Given the description of an element on the screen output the (x, y) to click on. 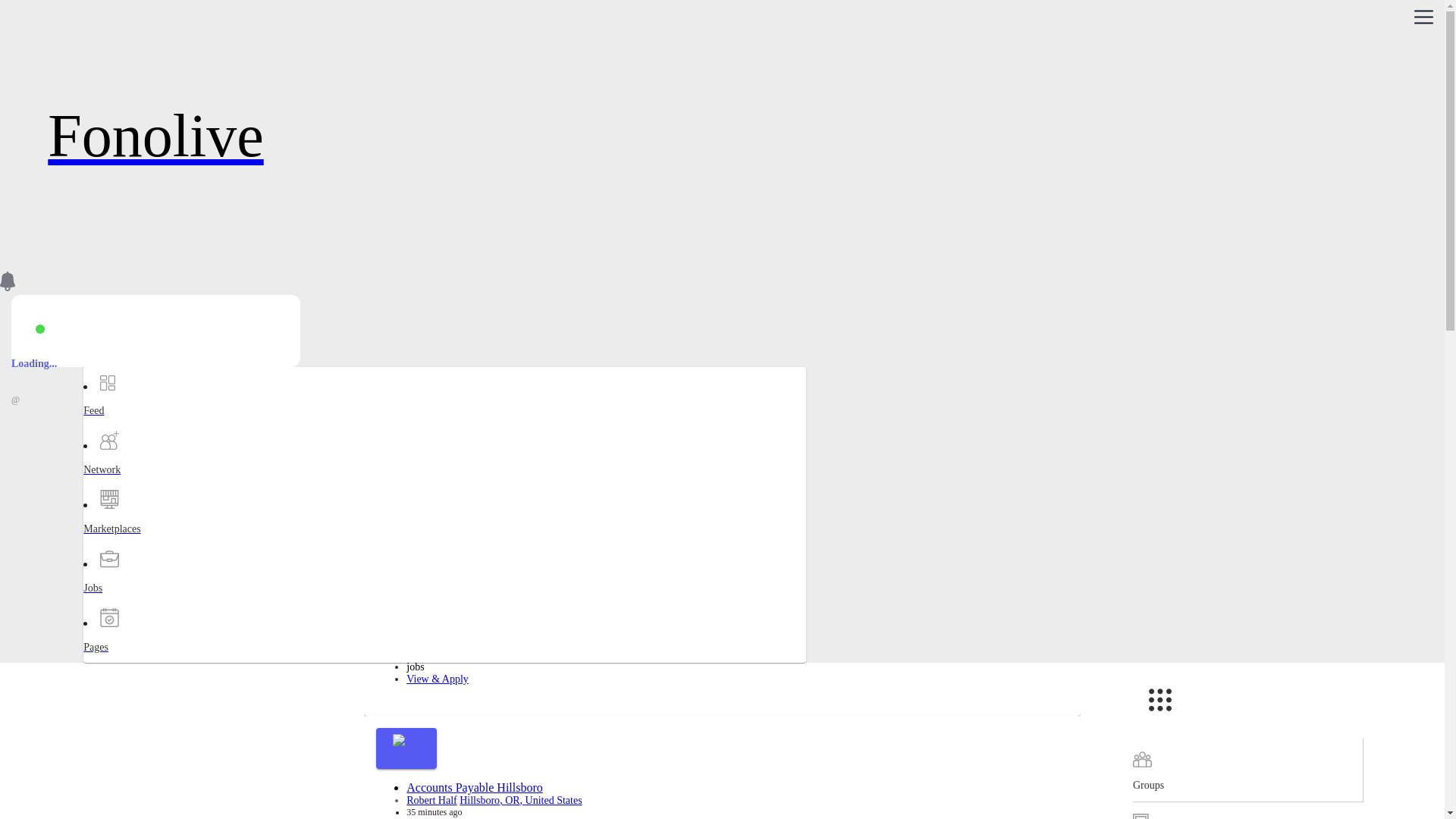
Accounts Payable Hillsboro (474, 787)
Feed (142, 424)
Small Business Specialist 2 - Hillsboro 106th Ave, OR (538, 617)
Jobs (142, 601)
Hillsboro, OR, United States (605, 631)
Robert Half (431, 799)
Hillsboro, OR, United States (489, 292)
Hillsboro, OR, United States (520, 799)
Senior Standard Cell Design Engineer Hillsboro (523, 279)
My Paid Ads (1247, 810)
Dental Hygienist II Hillsboro (477, 449)
Marketplaces (142, 542)
Pages (142, 660)
Hillsboro, OR, United States (553, 461)
Groups (1247, 770)
